Given the description of an element on the screen output the (x, y) to click on. 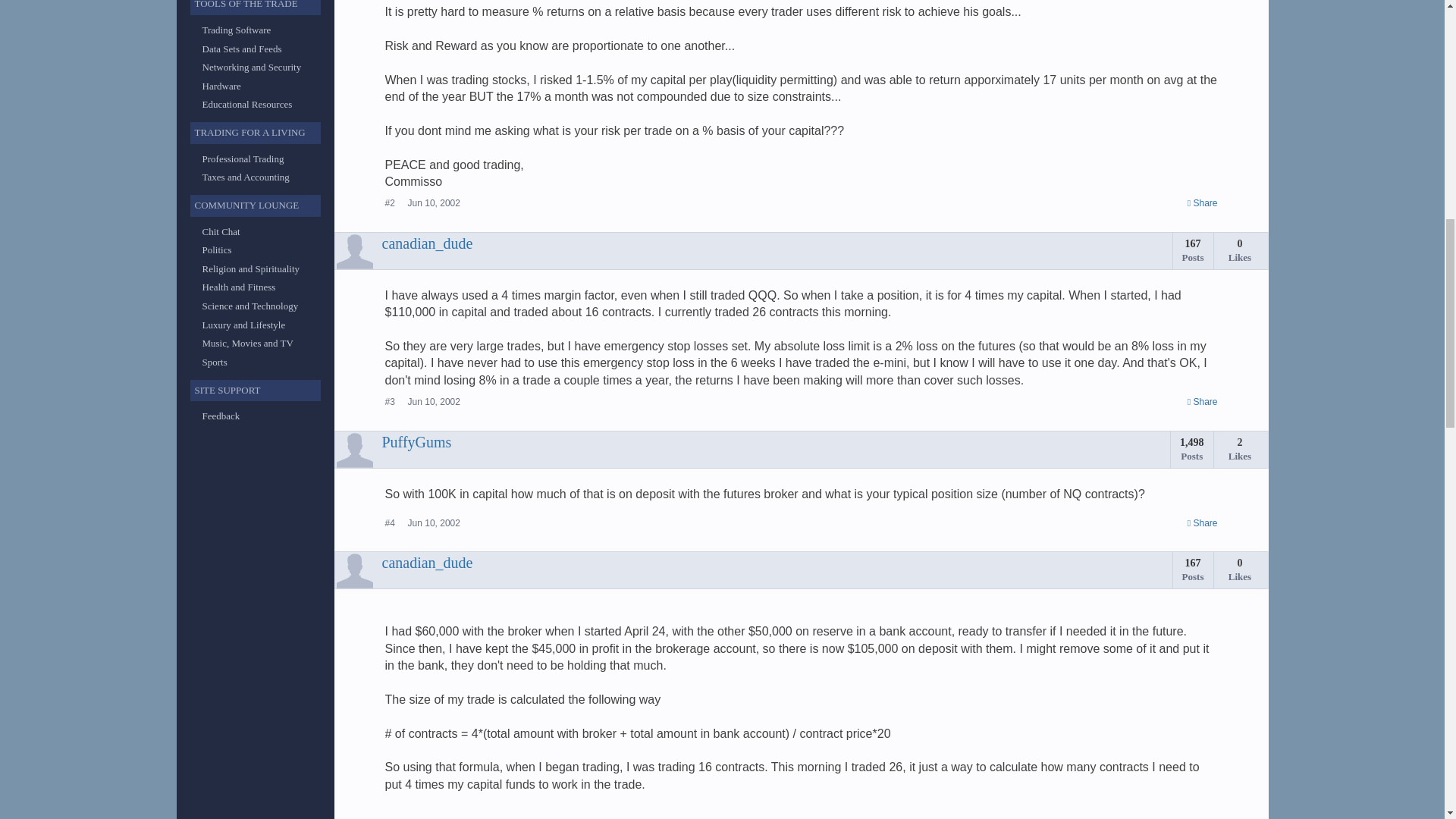
Professional Trading (242, 158)
Politics (216, 249)
Trading Software (236, 30)
Permalink (433, 203)
Educational Resources (247, 103)
Religion and Spirituality (250, 268)
Permalink (1202, 523)
Permalink (1202, 401)
Taxes and Accounting (245, 176)
Permalink (433, 522)
Networking and Security (251, 66)
Permalink (1202, 203)
Permalink (433, 401)
Data Sets and Feeds (241, 48)
Hardware (221, 85)
